Given the description of an element on the screen output the (x, y) to click on. 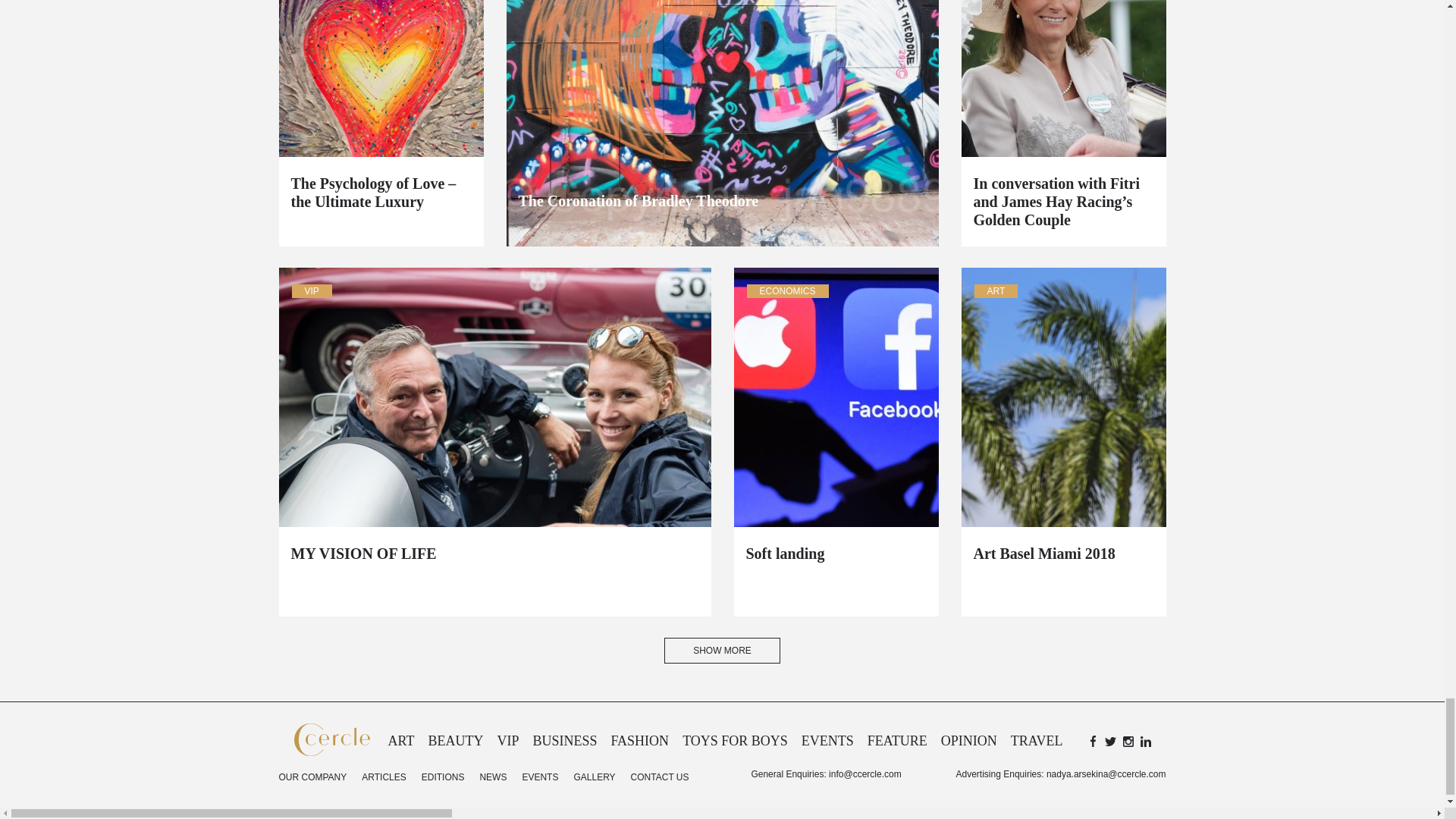
MY VISION OF LIFE (494, 553)
Soft landing (835, 553)
Art Basel Miami 2018 (1064, 553)
The Coronation of Bradley Theodore (722, 200)
